Given the description of an element on the screen output the (x, y) to click on. 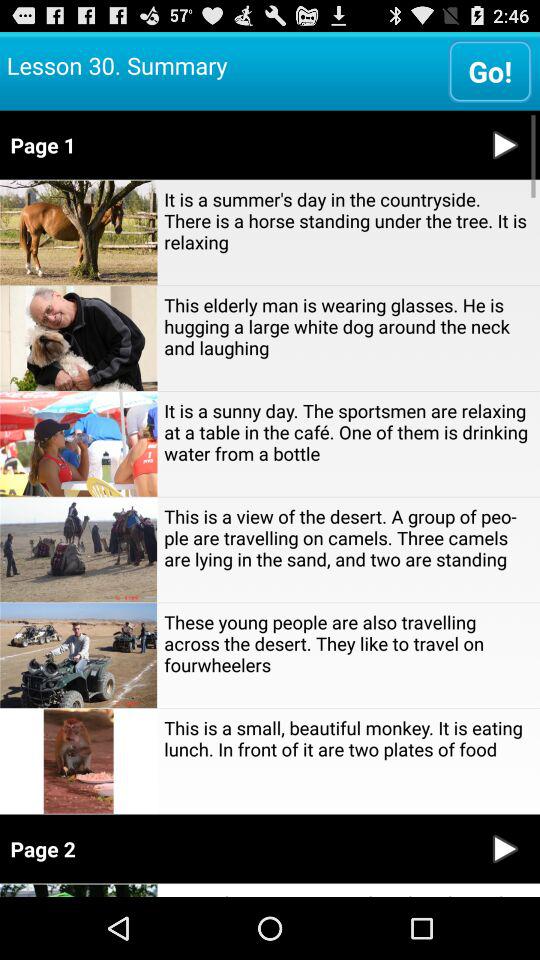
play video (505, 144)
